Given the description of an element on the screen output the (x, y) to click on. 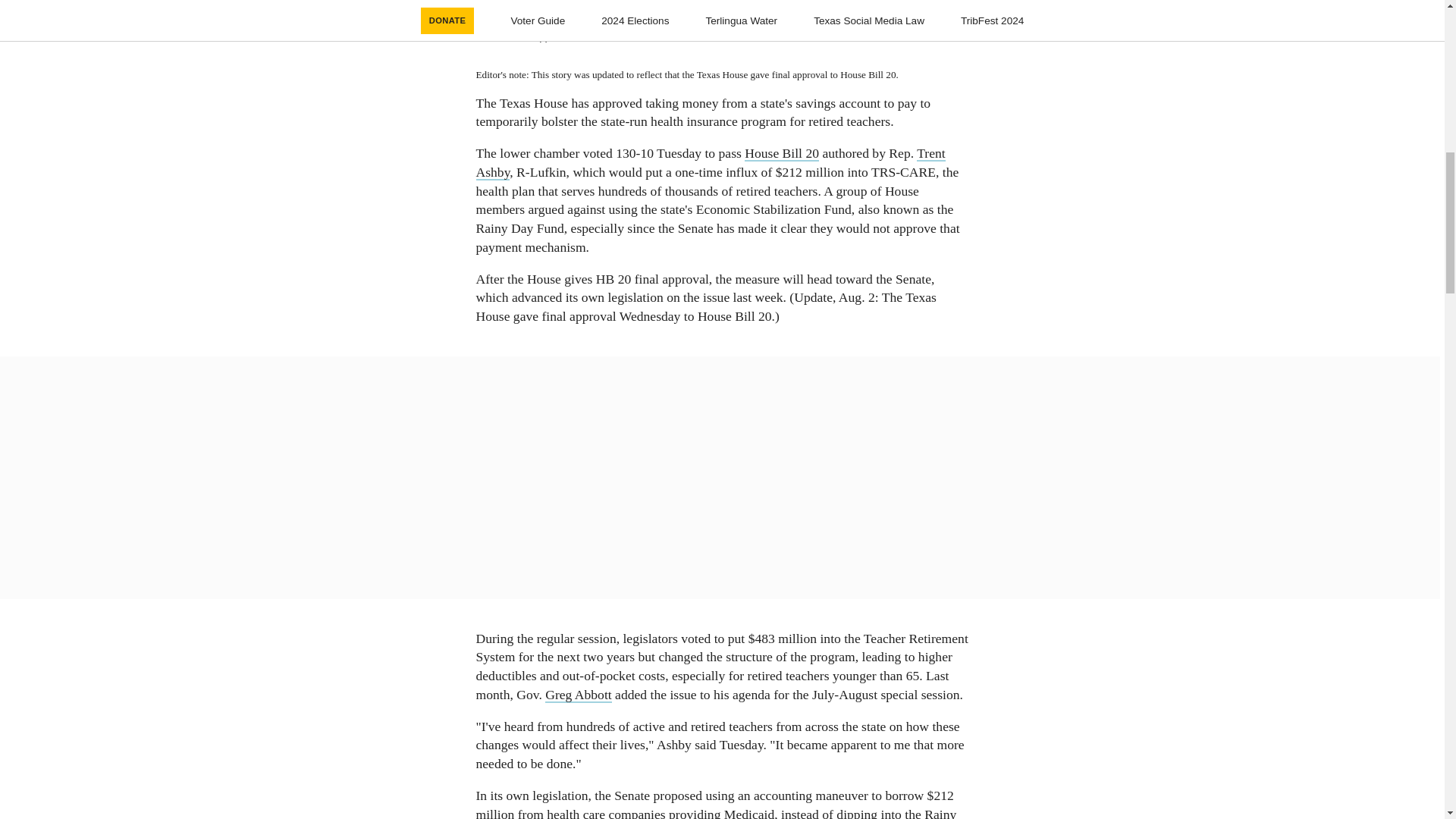
Trent Ashby (710, 162)
Greg Abbott (577, 694)
House Bill 20 (781, 153)
